Given the description of an element on the screen output the (x, y) to click on. 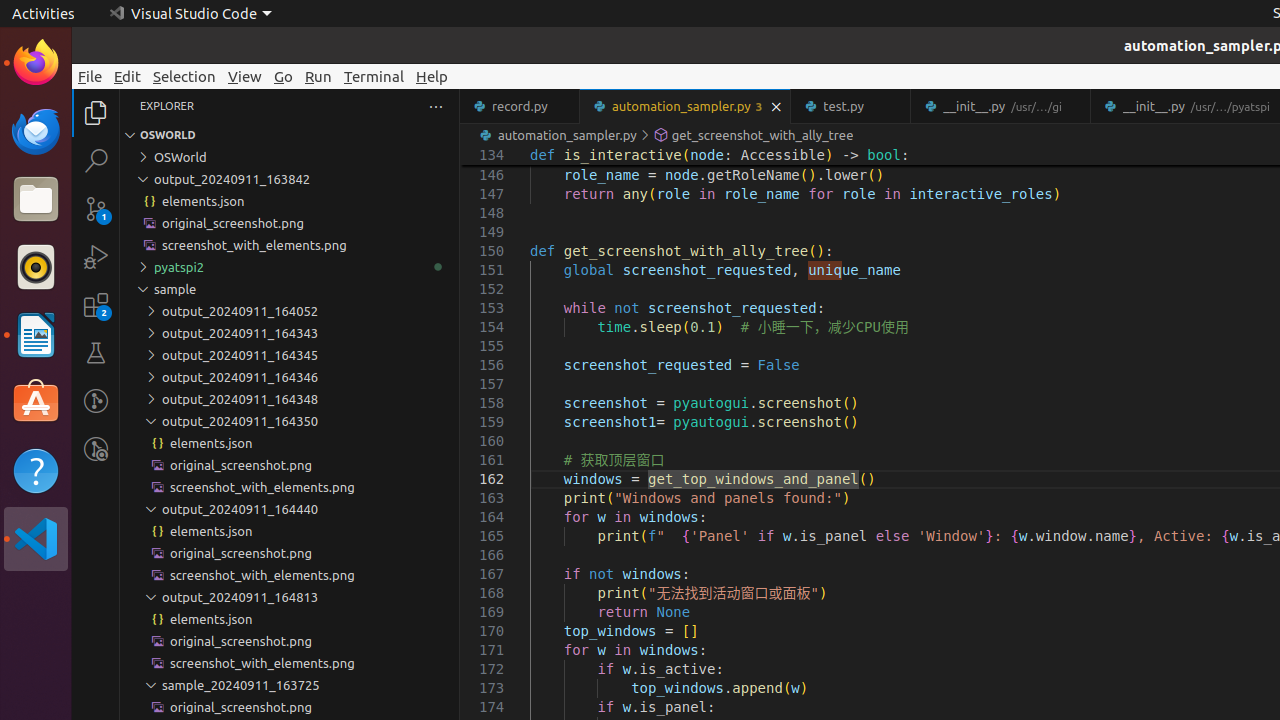
Explorer (Ctrl+Shift+E) Element type: page-tab (96, 113)
Explorer Section: osworld Element type: push-button (289, 135)
output_20240911_164343 Element type: tree-item (289, 333)
